Given the description of an element on the screen output the (x, y) to click on. 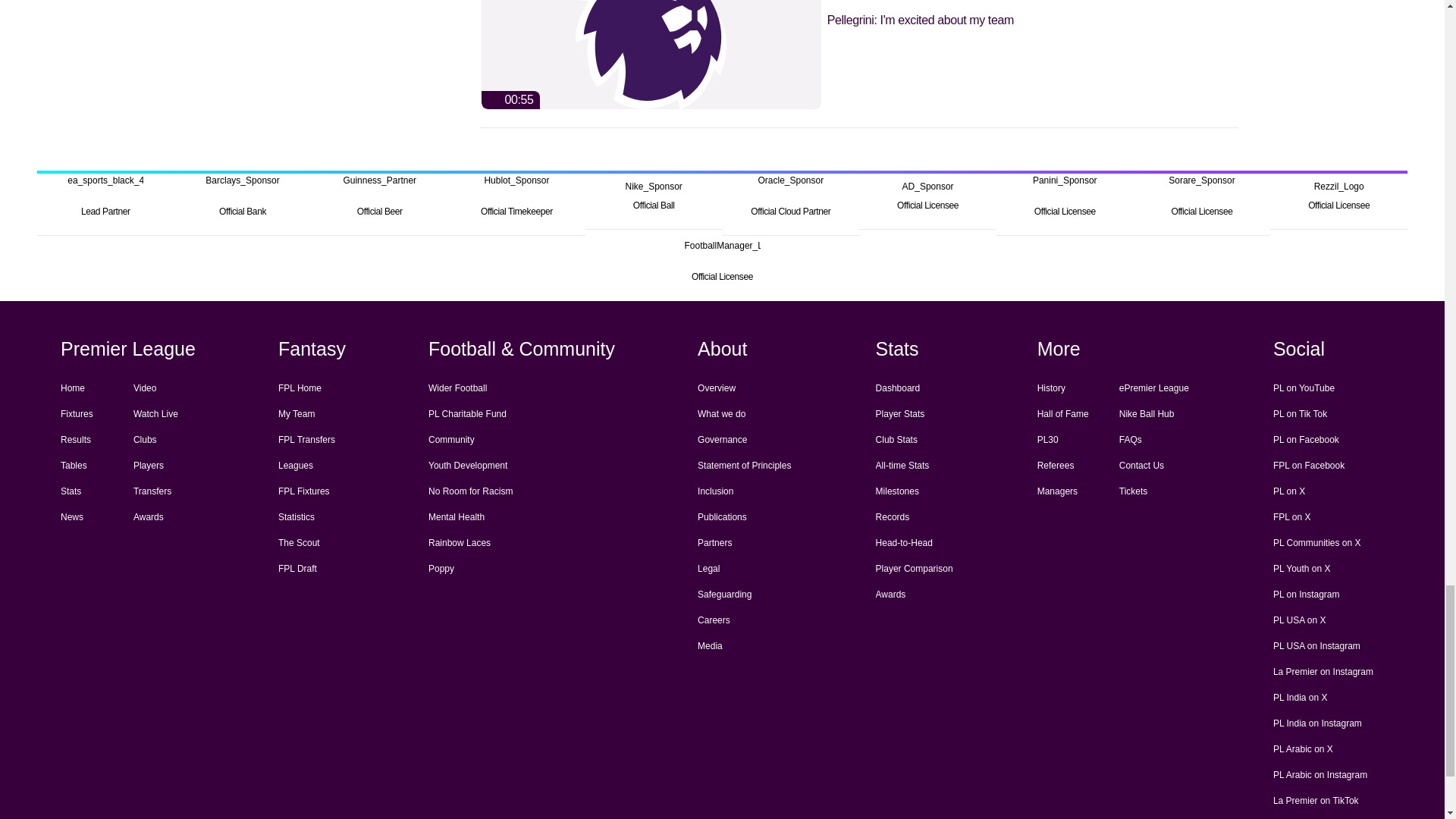
Pellegrini: I'm excited about my team (858, 54)
